Given the description of an element on the screen output the (x, y) to click on. 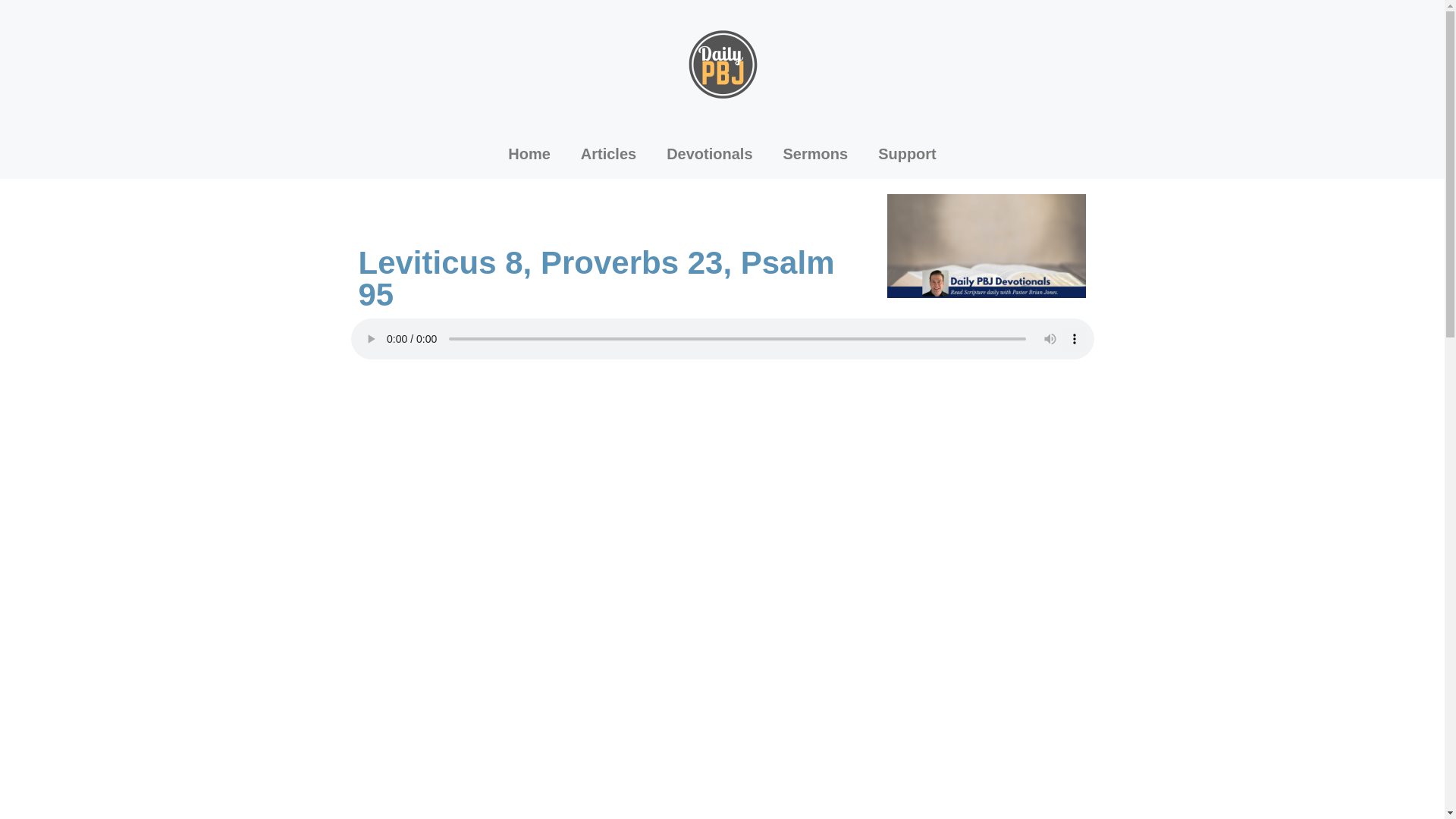
Sermons (815, 153)
Support (907, 153)
Home (529, 153)
Devotionals (708, 153)
Articles (608, 153)
